Given the description of an element on the screen output the (x, y) to click on. 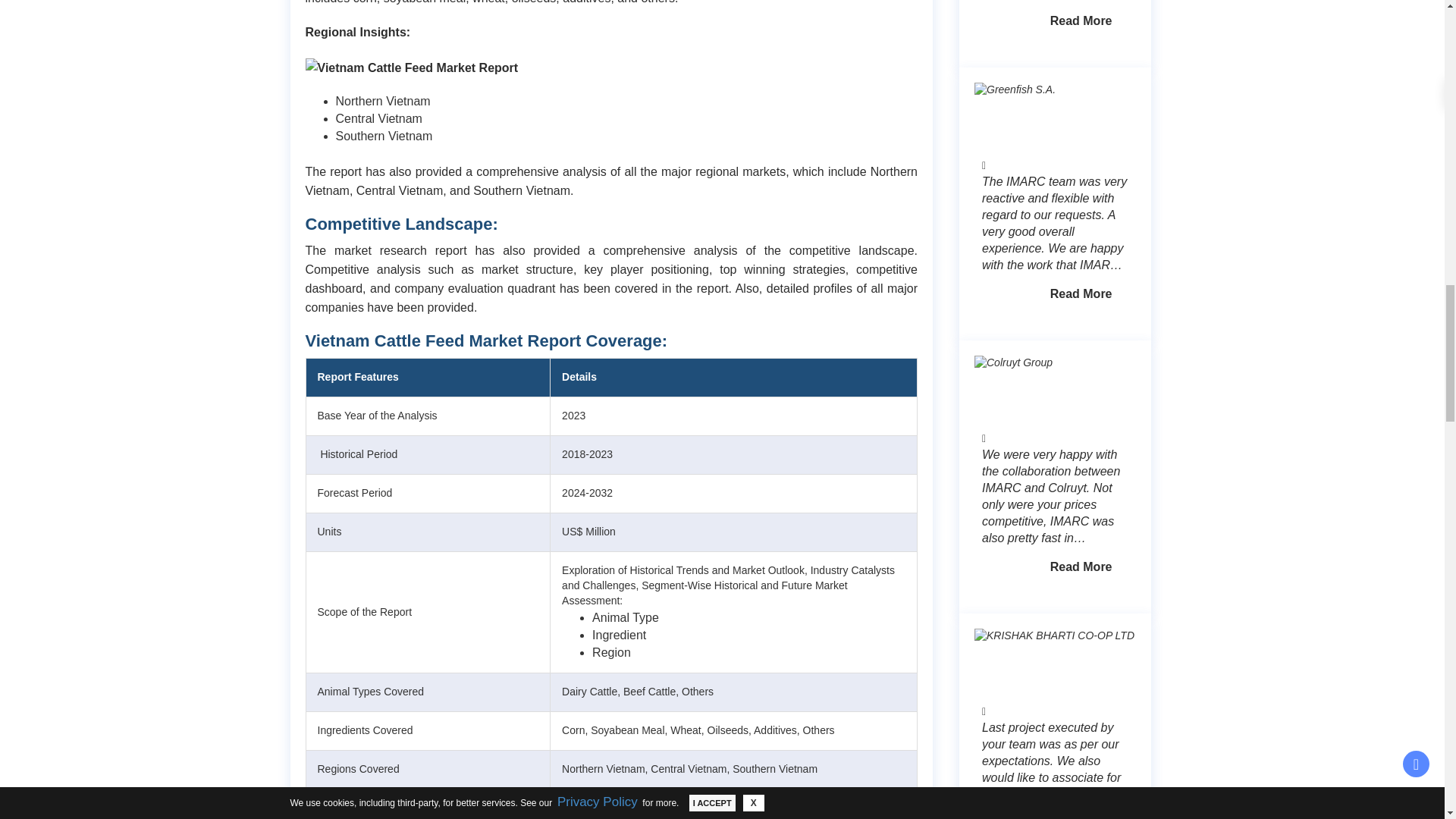
Know more (1081, 567)
Know more (1081, 21)
Know more (1081, 294)
